Given the description of an element on the screen output the (x, y) to click on. 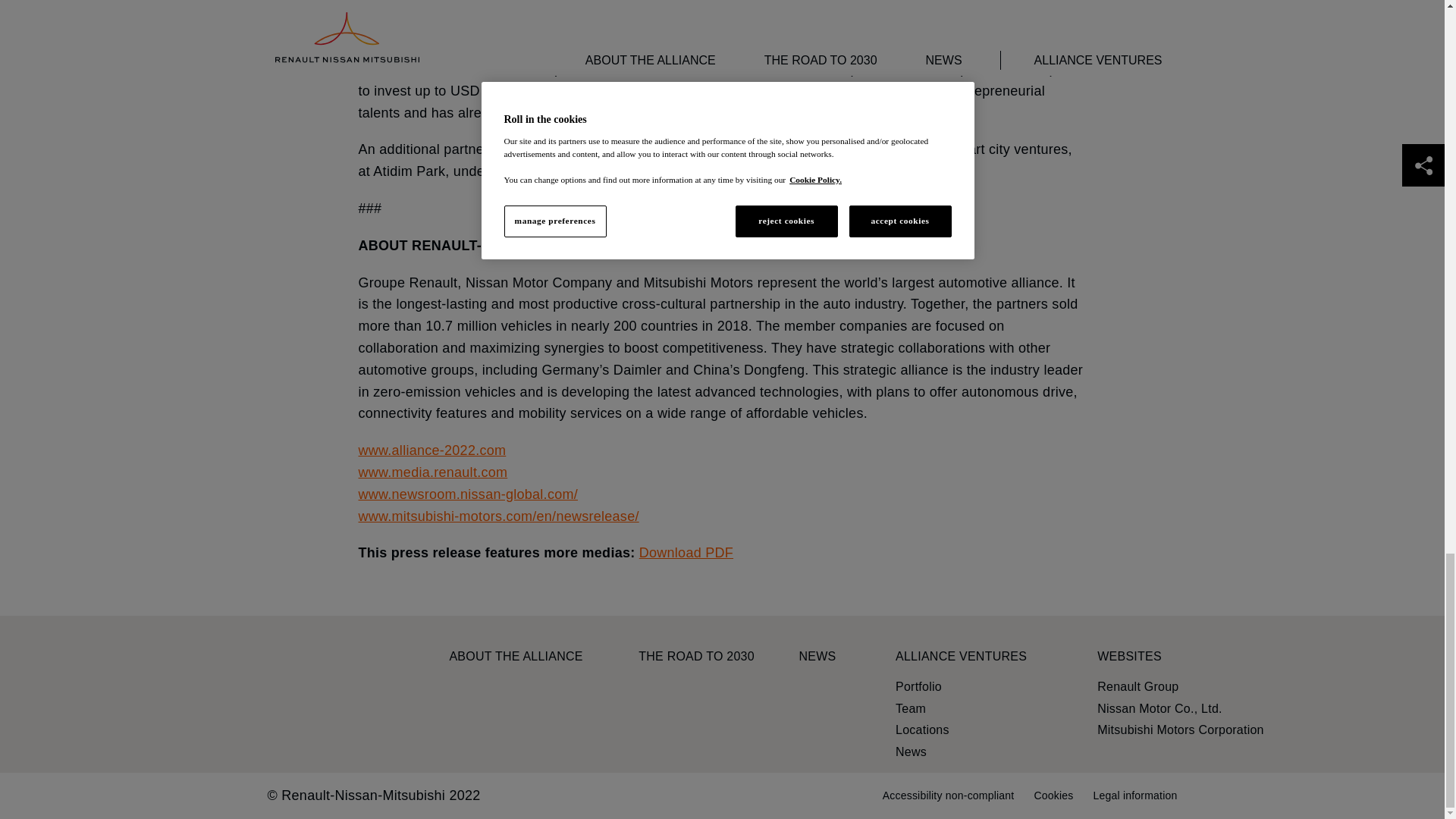
Locations (922, 729)
NEWS (816, 656)
Accessibility non-compliant (948, 795)
Portfolio (918, 686)
Renault Group (1137, 686)
News (910, 751)
Mitsubishi Motors Corporation (1180, 729)
Legal information (1135, 795)
ALLIANCE VENTURES (960, 656)
Cookies (1053, 795)
